Given the description of an element on the screen output the (x, y) to click on. 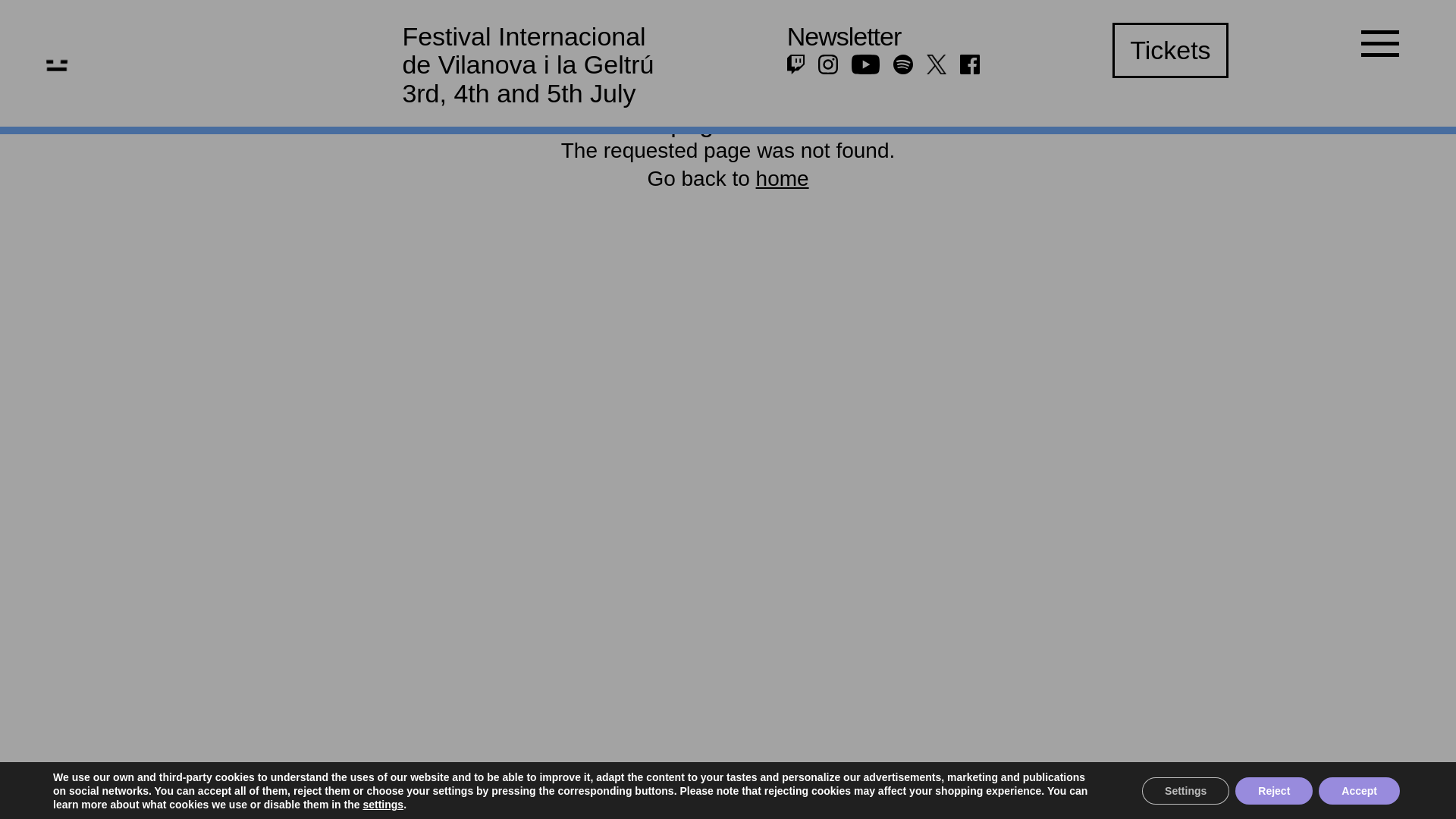
home (782, 178)
